Given the description of an element on the screen output the (x, y) to click on. 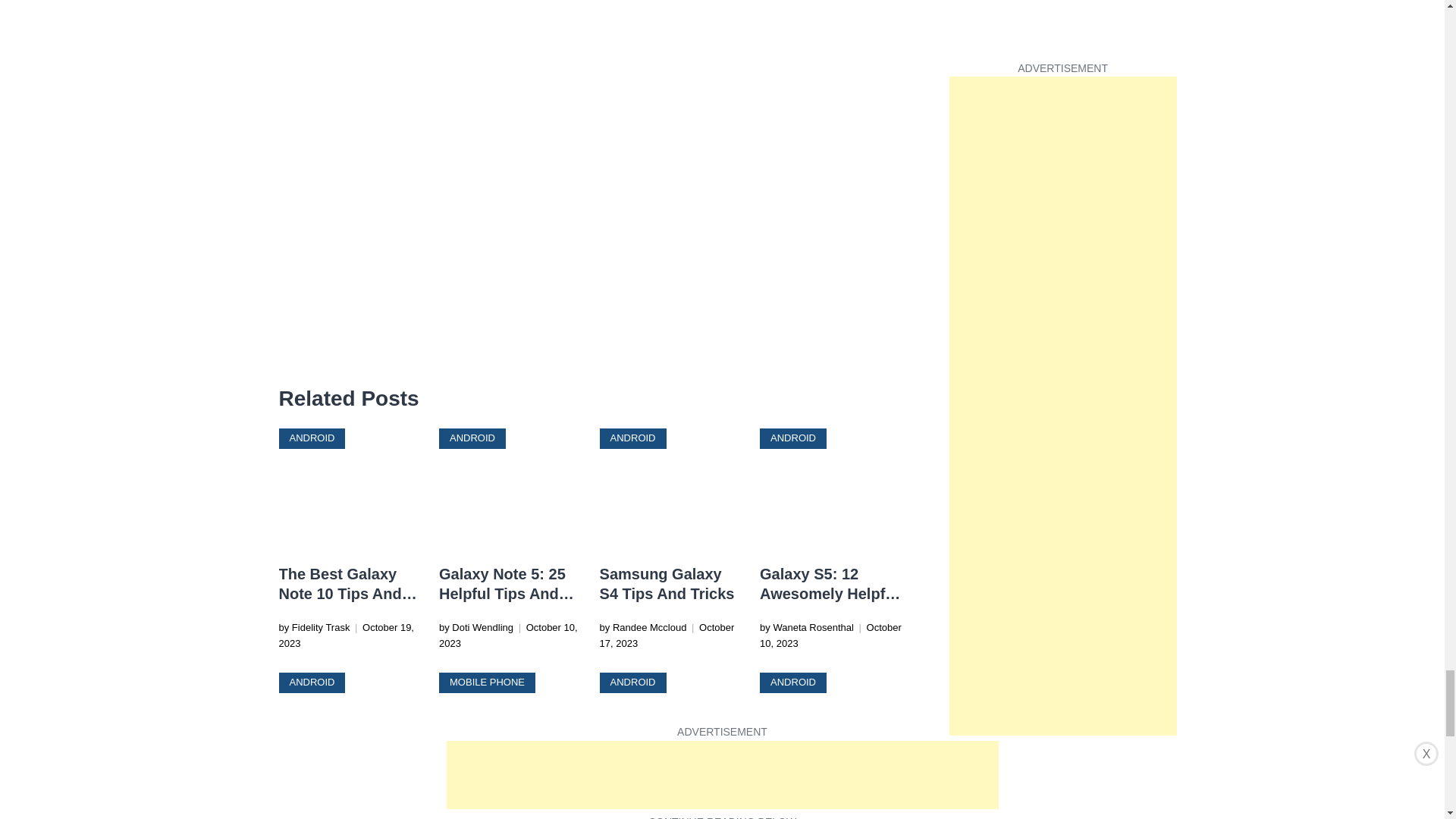
Share on Instagram (351, 354)
Share on twitter (321, 354)
Share on facebook (291, 354)
